Given the description of an element on the screen output the (x, y) to click on. 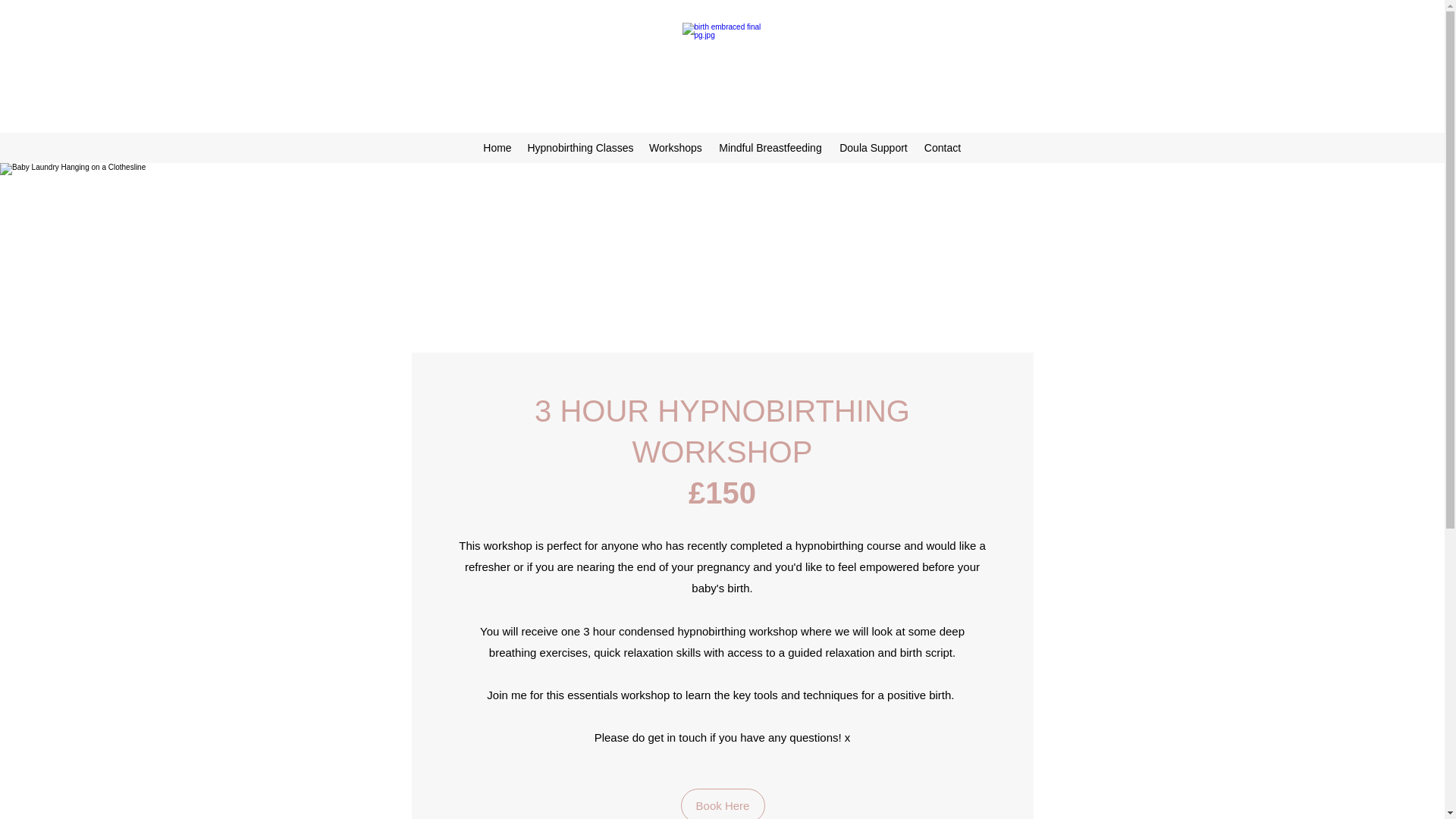
Book Here (723, 803)
Home (497, 147)
Workshops (676, 147)
Hypnobirthing Classes (580, 147)
Doula Support (873, 147)
Mindful Breastfeeding (770, 147)
Contact (942, 147)
